Given the description of an element on the screen output the (x, y) to click on. 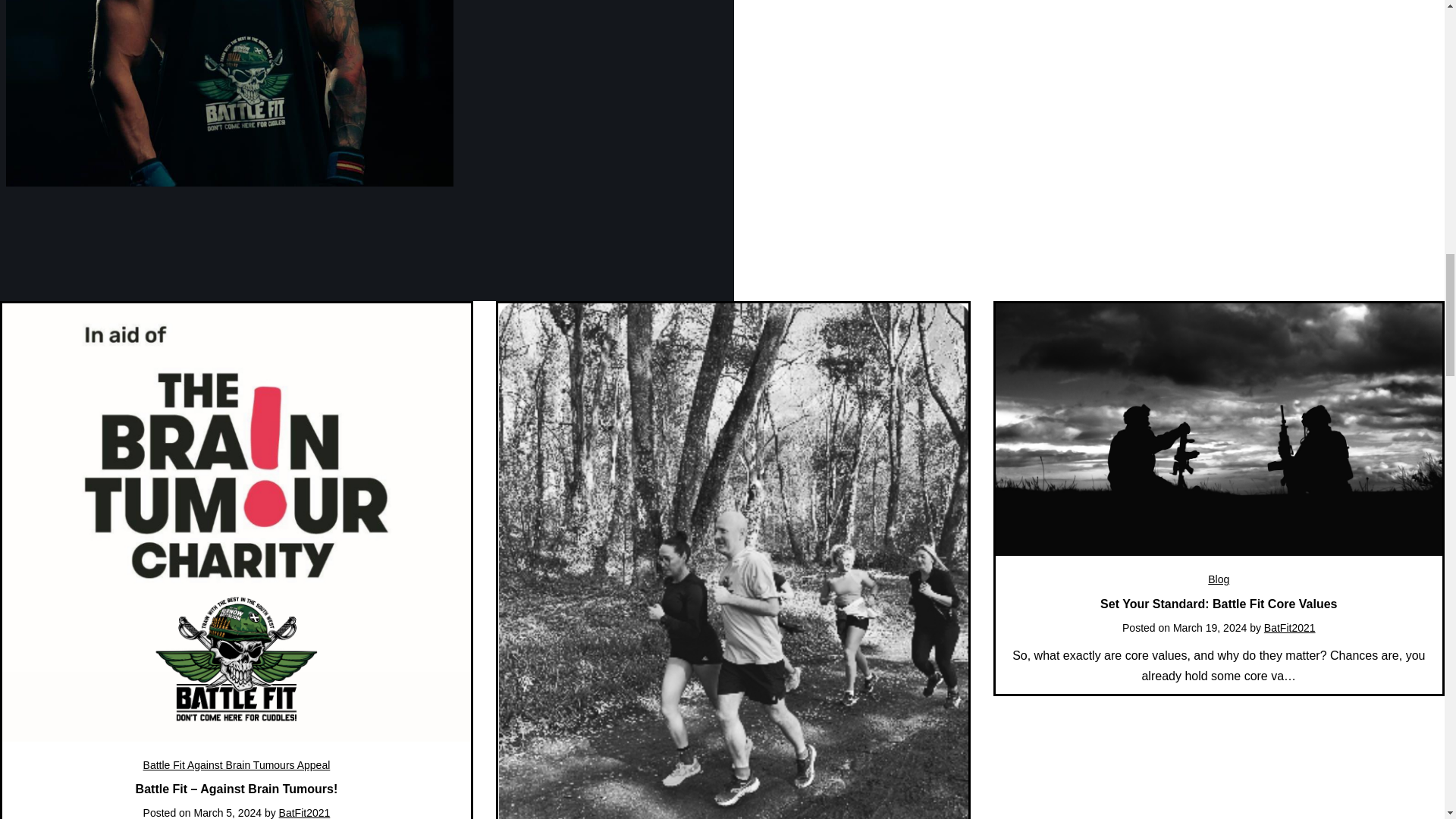
Set Your Standard: Battle Fit Core Values (1218, 603)
BatFit2021 (1289, 627)
Blog (1218, 579)
Battle Fit Against Brain Tumours Appeal (236, 765)
BatFit2021 (304, 812)
